Given the description of an element on the screen output the (x, y) to click on. 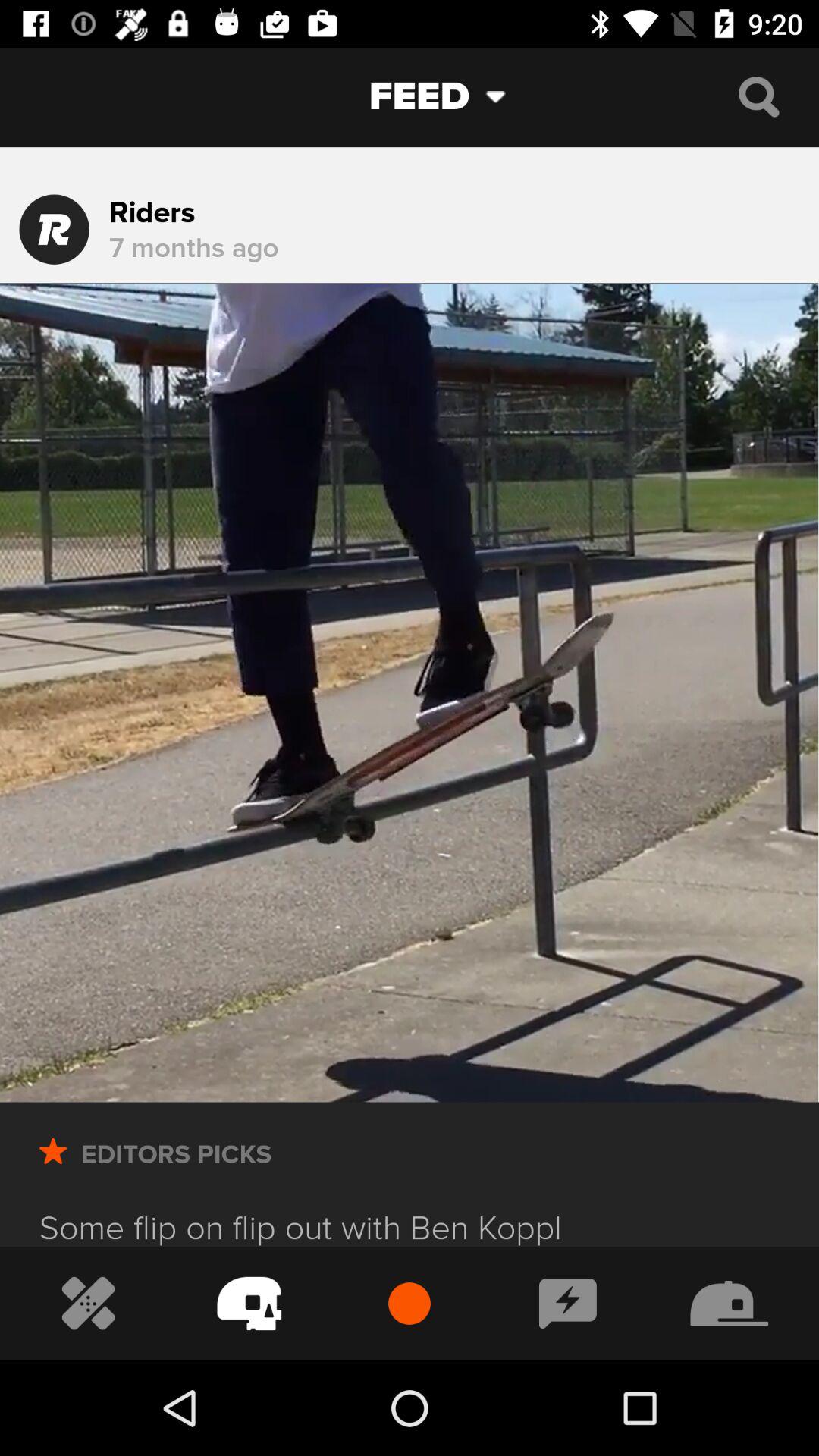
search (758, 96)
